Given the description of an element on the screen output the (x, y) to click on. 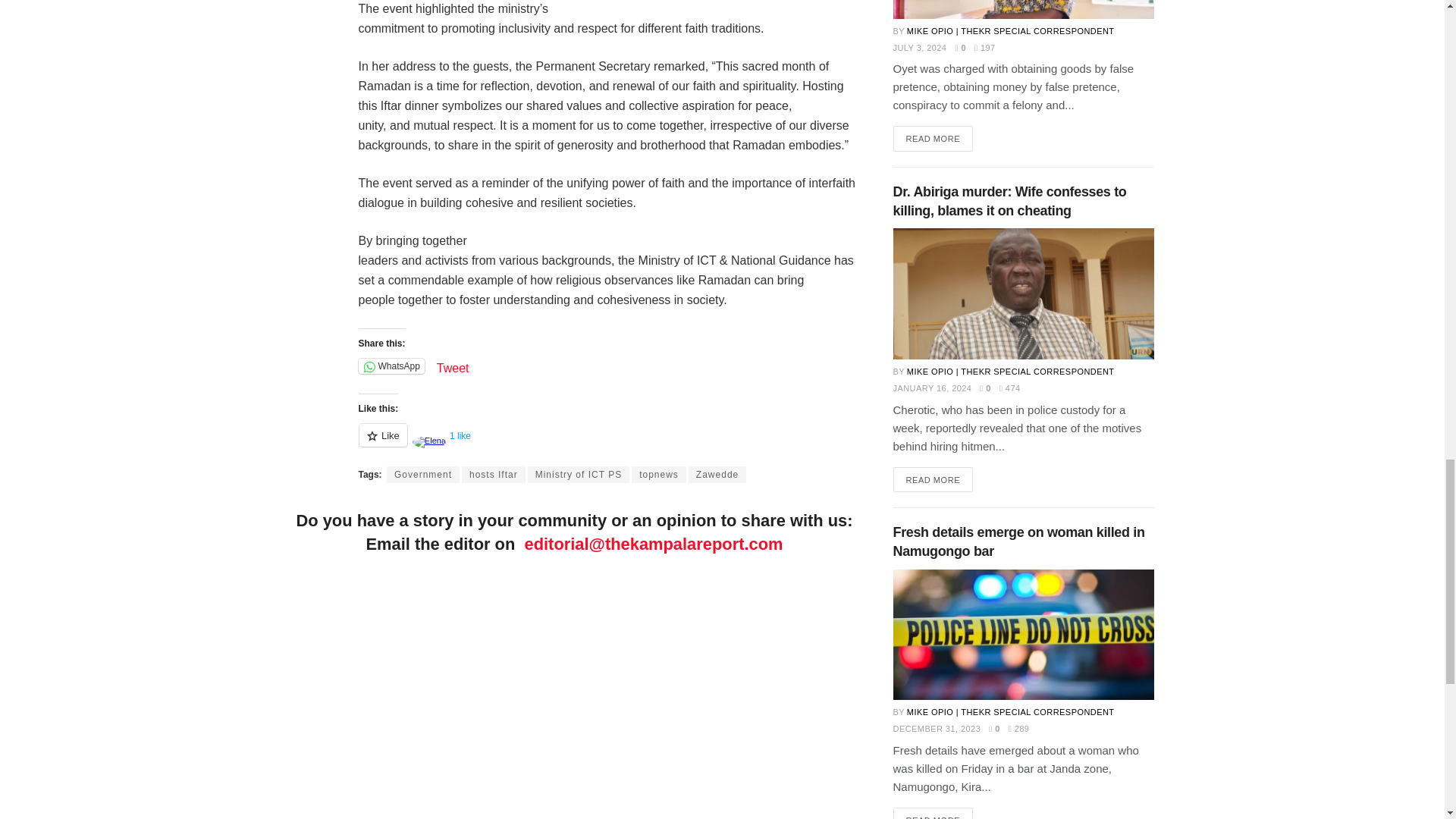
Like or Reblog (608, 444)
Click to share on WhatsApp (390, 365)
